Given the description of an element on the screen output the (x, y) to click on. 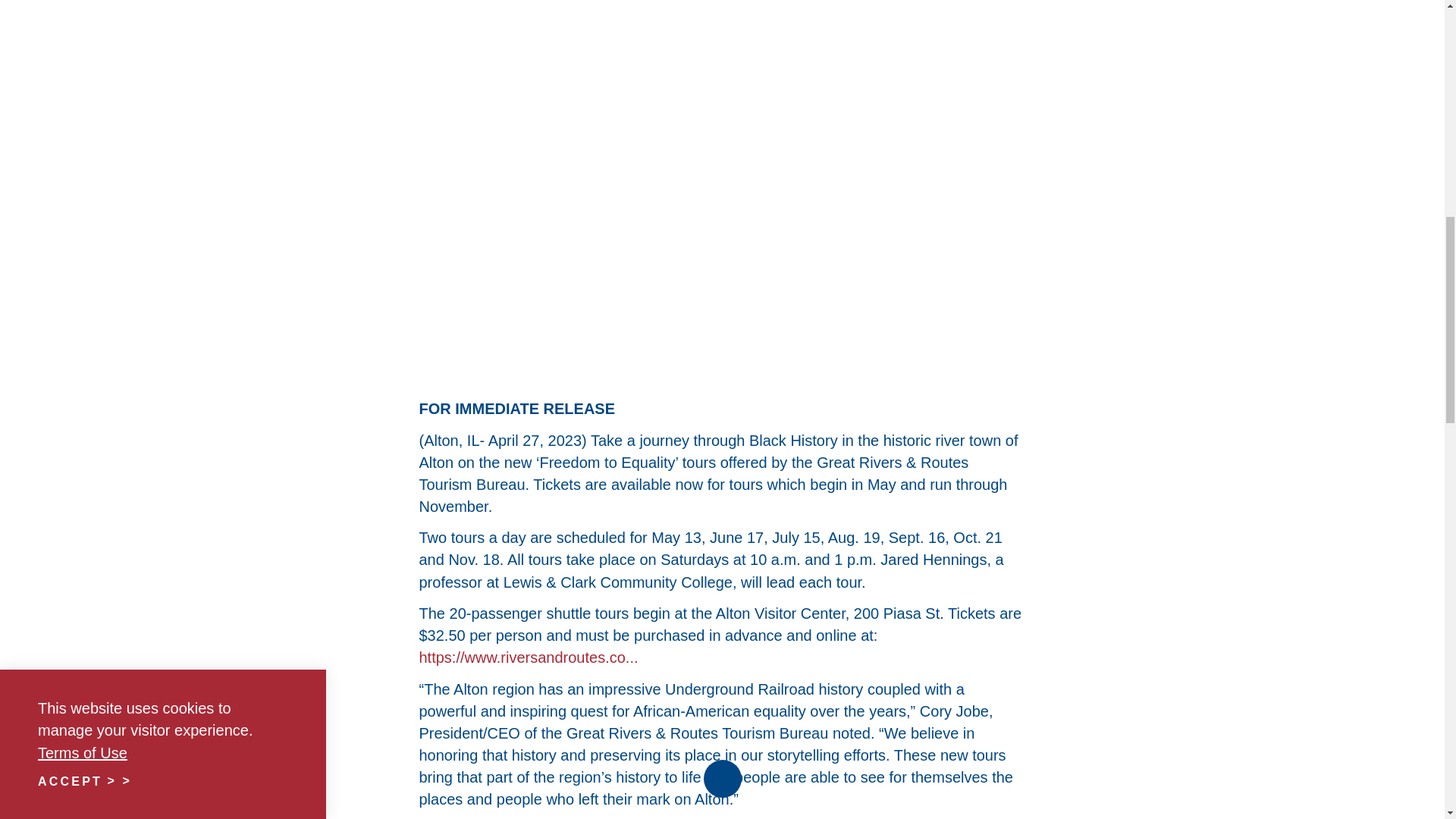
FareHarbor (1342, 64)
